Given the description of an element on the screen output the (x, y) to click on. 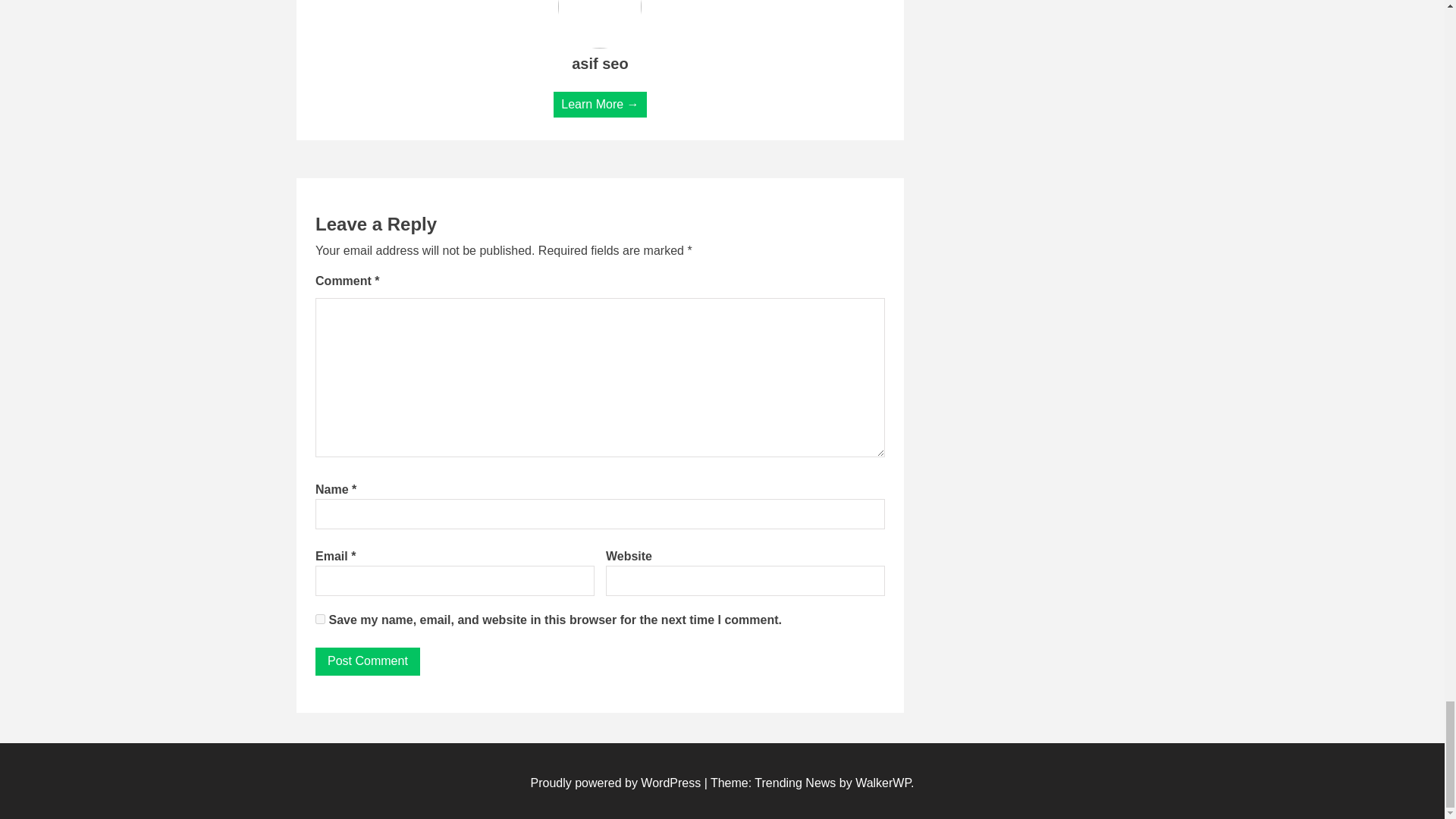
yes (319, 619)
Post Comment (367, 661)
